Given the description of an element on the screen output the (x, y) to click on. 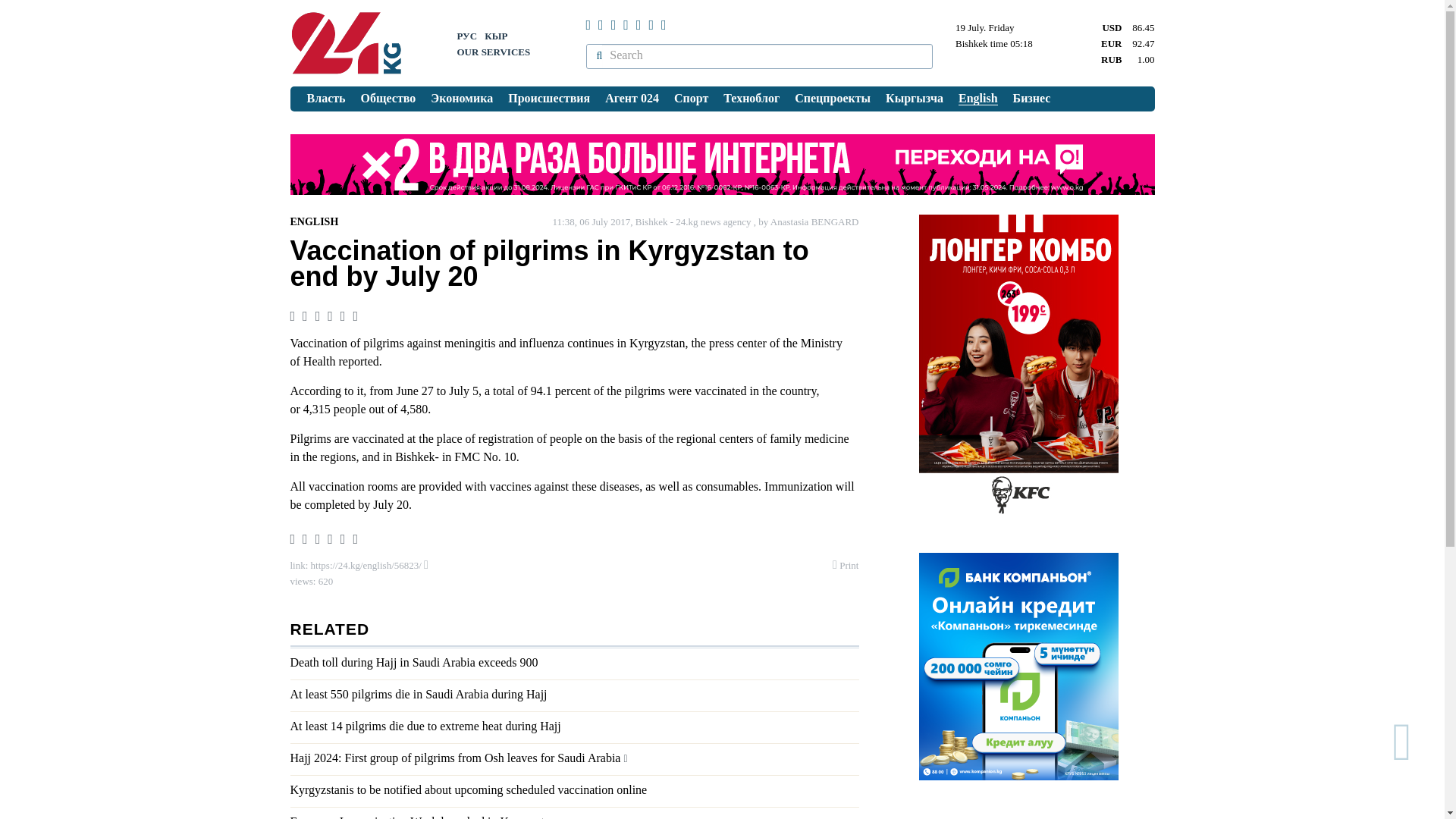
OUR SERVICES (493, 51)
English (978, 98)
ENGLISH (313, 221)
